Given the description of an element on the screen output the (x, y) to click on. 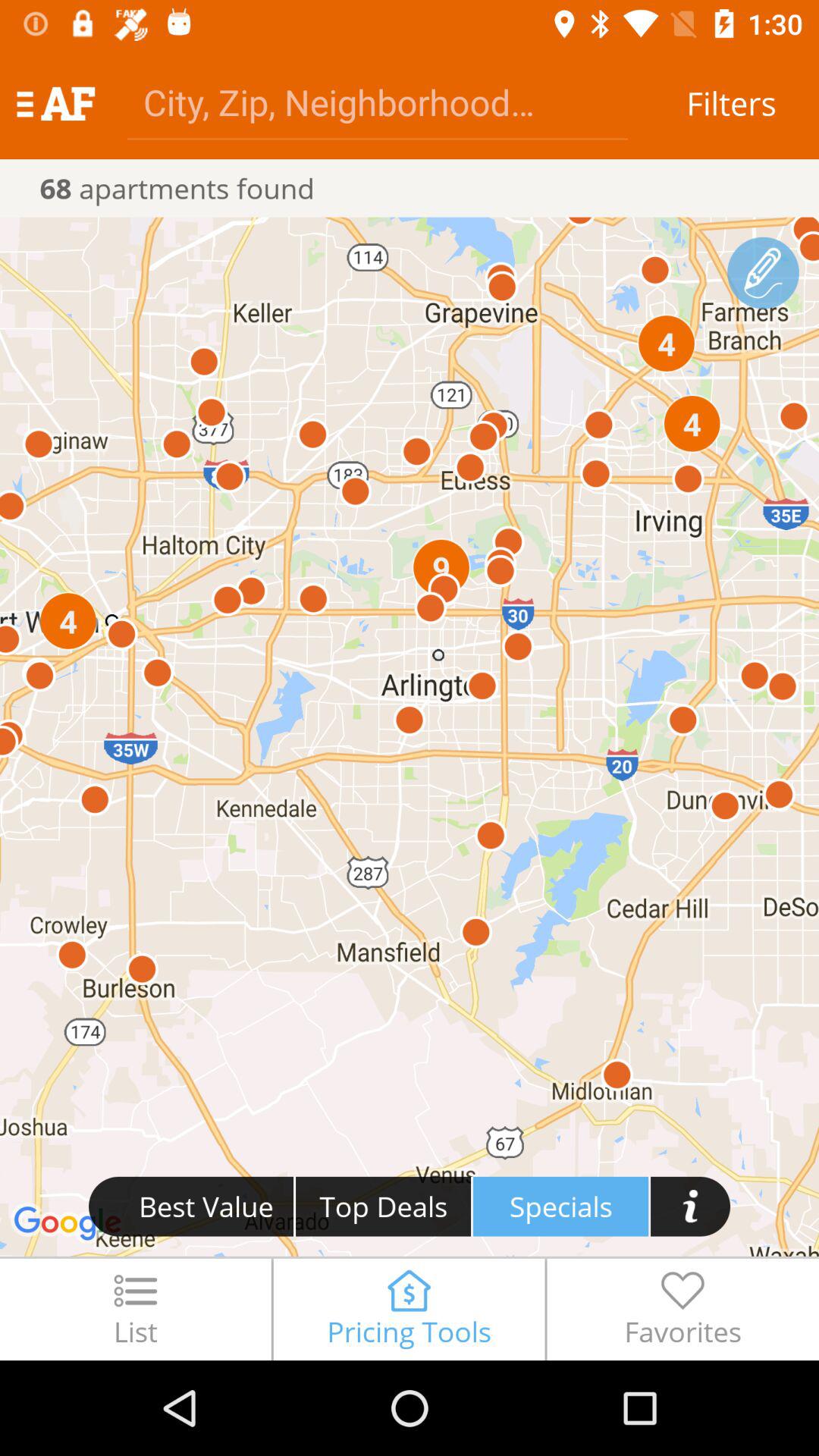
turn on the icon above the pricing tools icon (560, 1206)
